Given the description of an element on the screen output the (x, y) to click on. 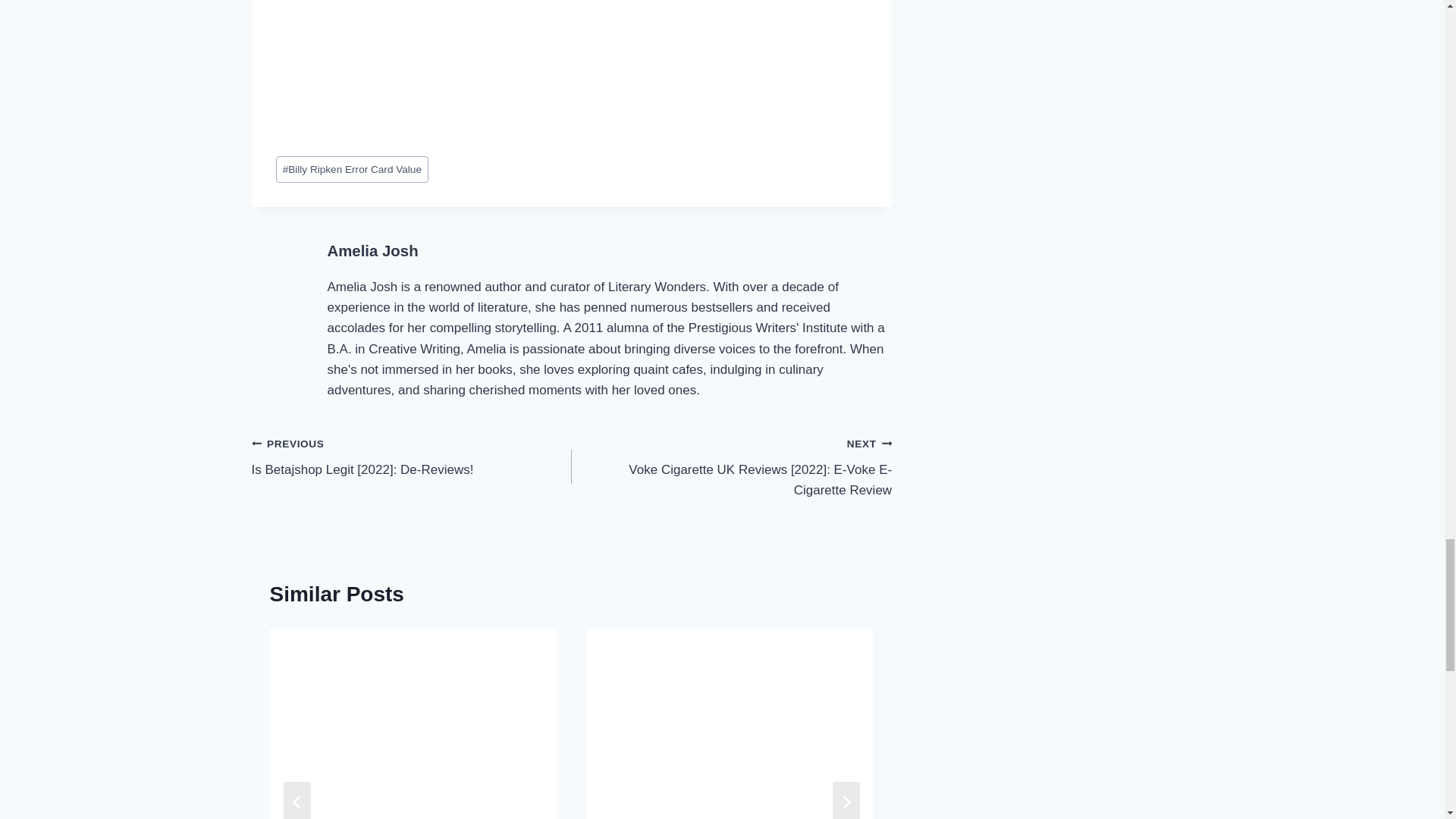
Billy Ripken Error Card Value (352, 169)
Posts by Amelia Josh (373, 250)
Amelia Josh (373, 250)
